Given the description of an element on the screen output the (x, y) to click on. 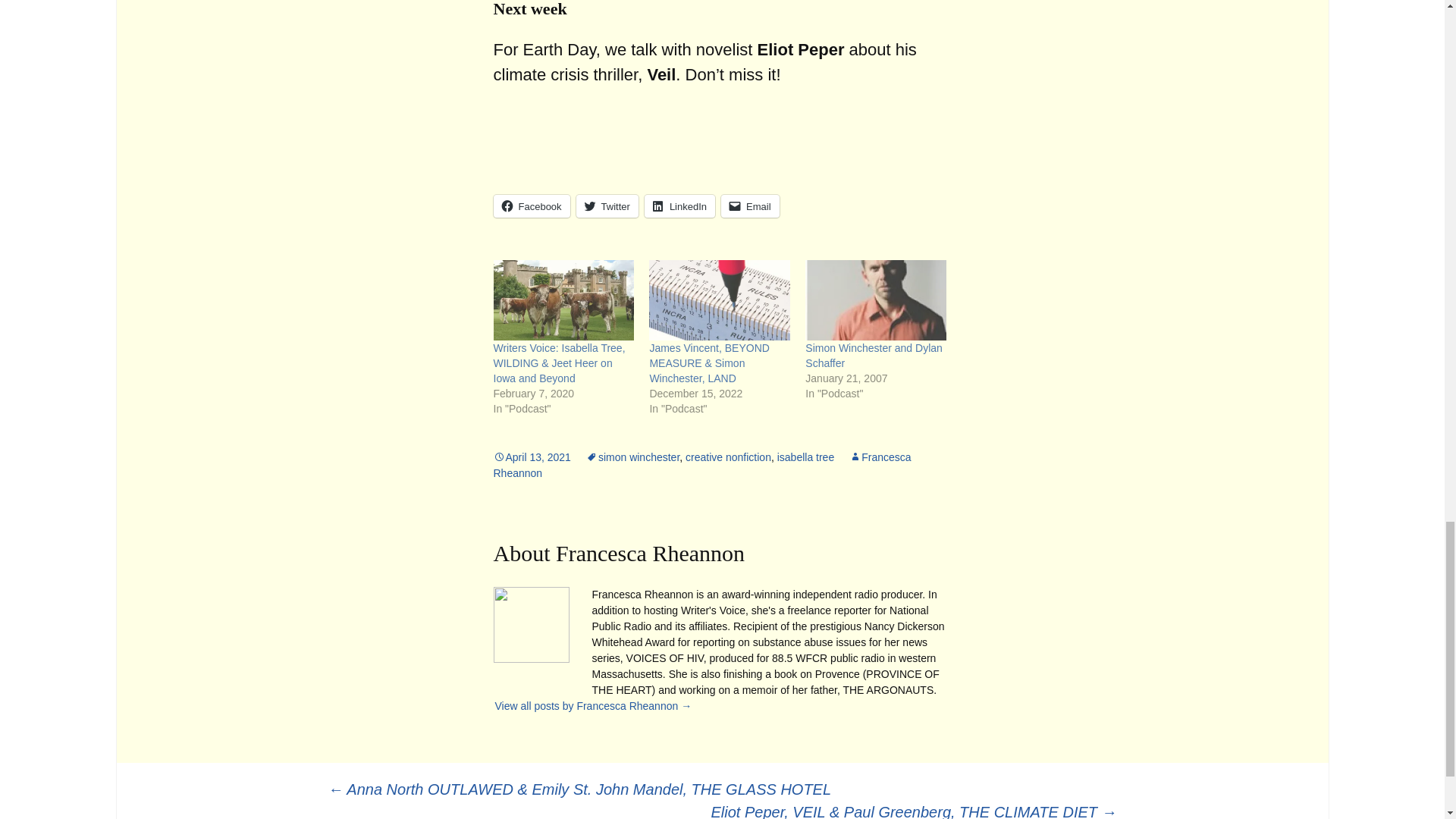
Click to email a link to a friend (749, 205)
Click to share on Twitter (607, 205)
Click to share on LinkedIn (679, 205)
Click to share on Facebook (531, 205)
Facebook (531, 205)
